Given the description of an element on the screen output the (x, y) to click on. 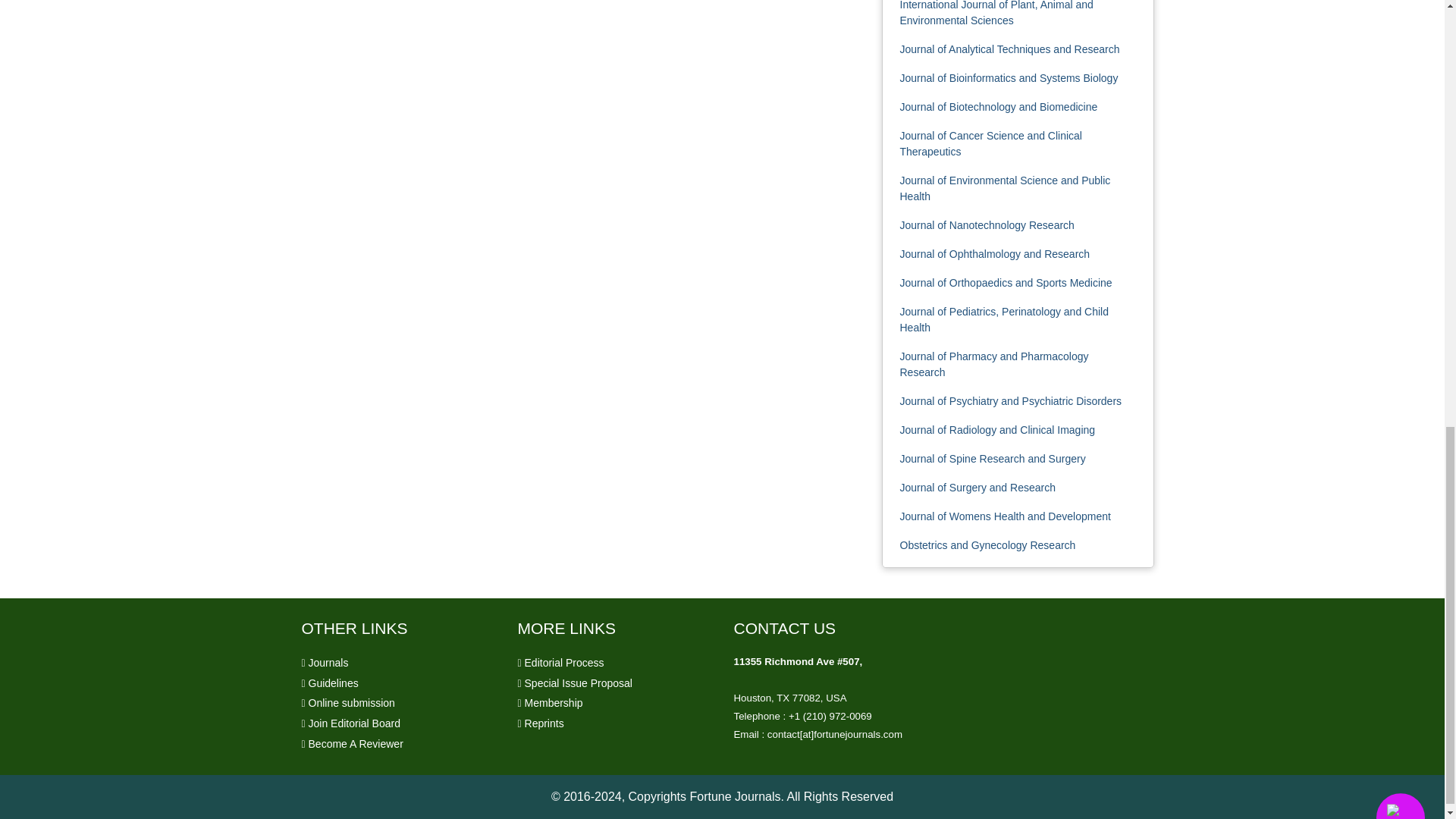
Journal of Environmental Science and Public Health (1004, 188)
Journal of Cancer Science and Clinical Therapeutics (990, 143)
Journal of Orthopaedics and Sports Medicine (1005, 282)
Journal of Nanotechnology Research (986, 224)
Journal of Analytical Techniques and Research (1009, 49)
Journal of Bioinformatics and Systems Biology (1008, 78)
Journal of Biotechnology and Biomedicine (998, 106)
Journal of Ophthalmology and Research (994, 254)
